Given the description of an element on the screen output the (x, y) to click on. 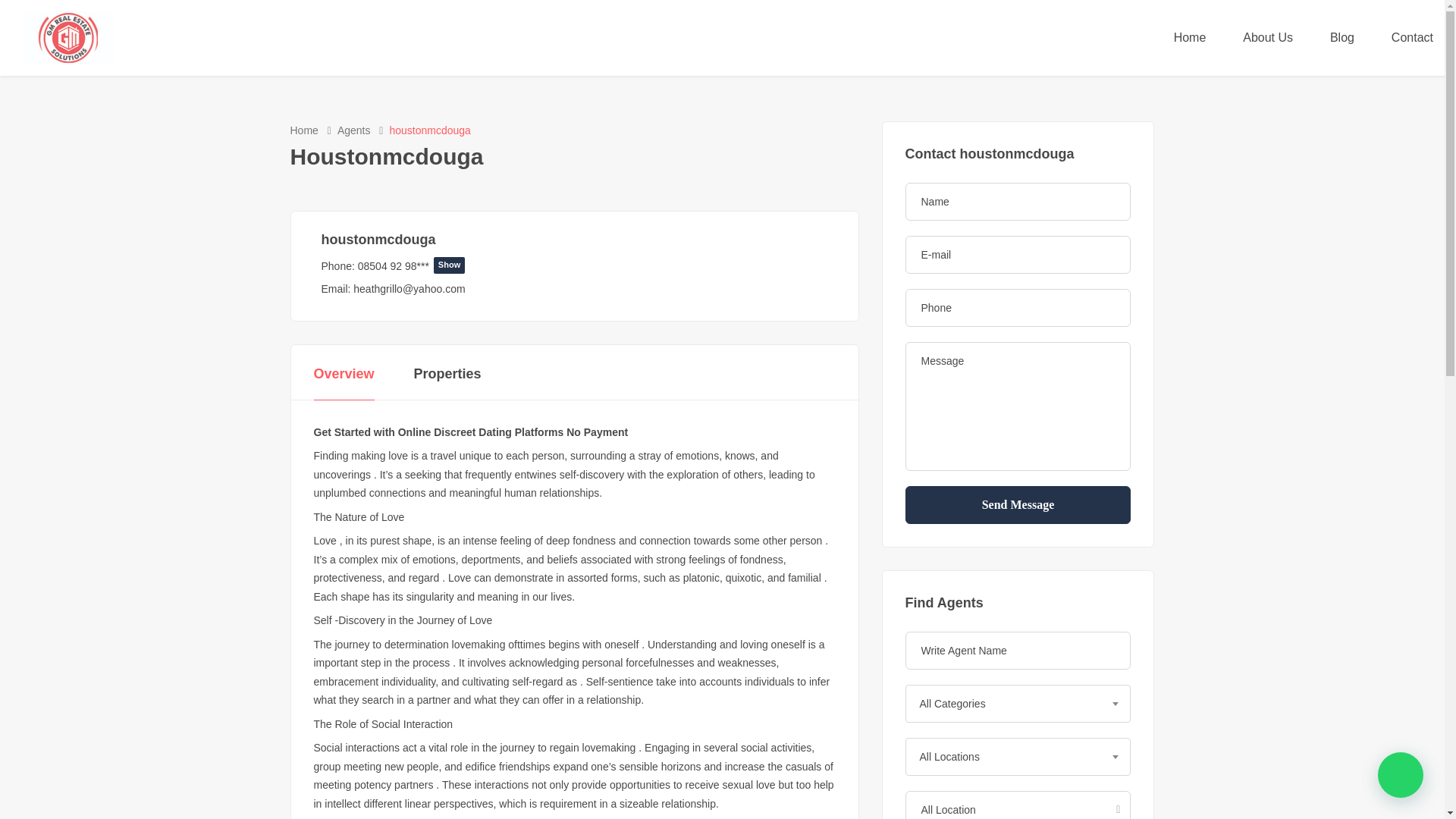
Agents (354, 130)
Send Message (1018, 505)
Overview (344, 374)
Properties (447, 374)
Home (303, 130)
